Given the description of an element on the screen output the (x, y) to click on. 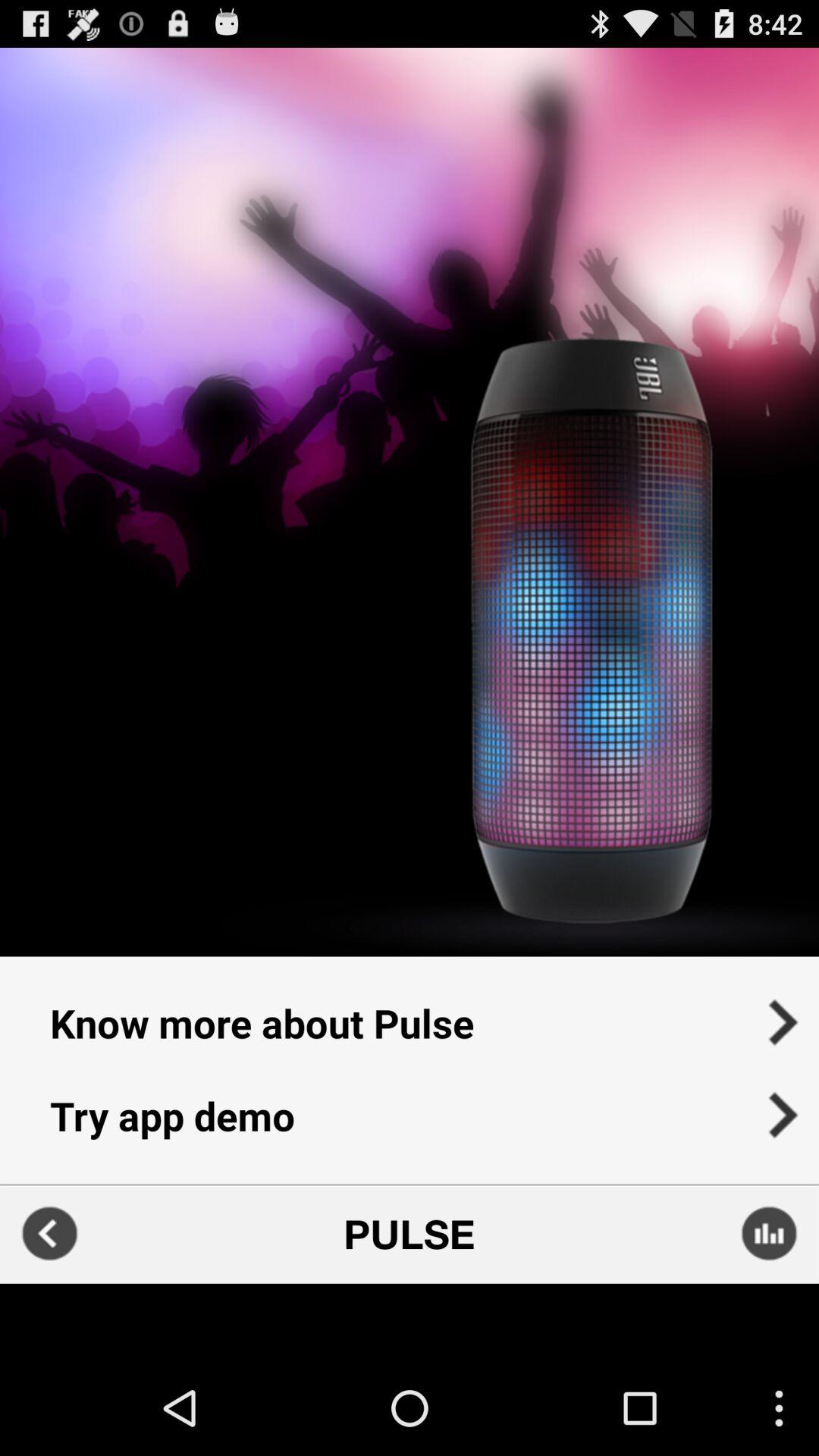
scroll until the try app demo (409, 1125)
